Given the description of an element on the screen output the (x, y) to click on. 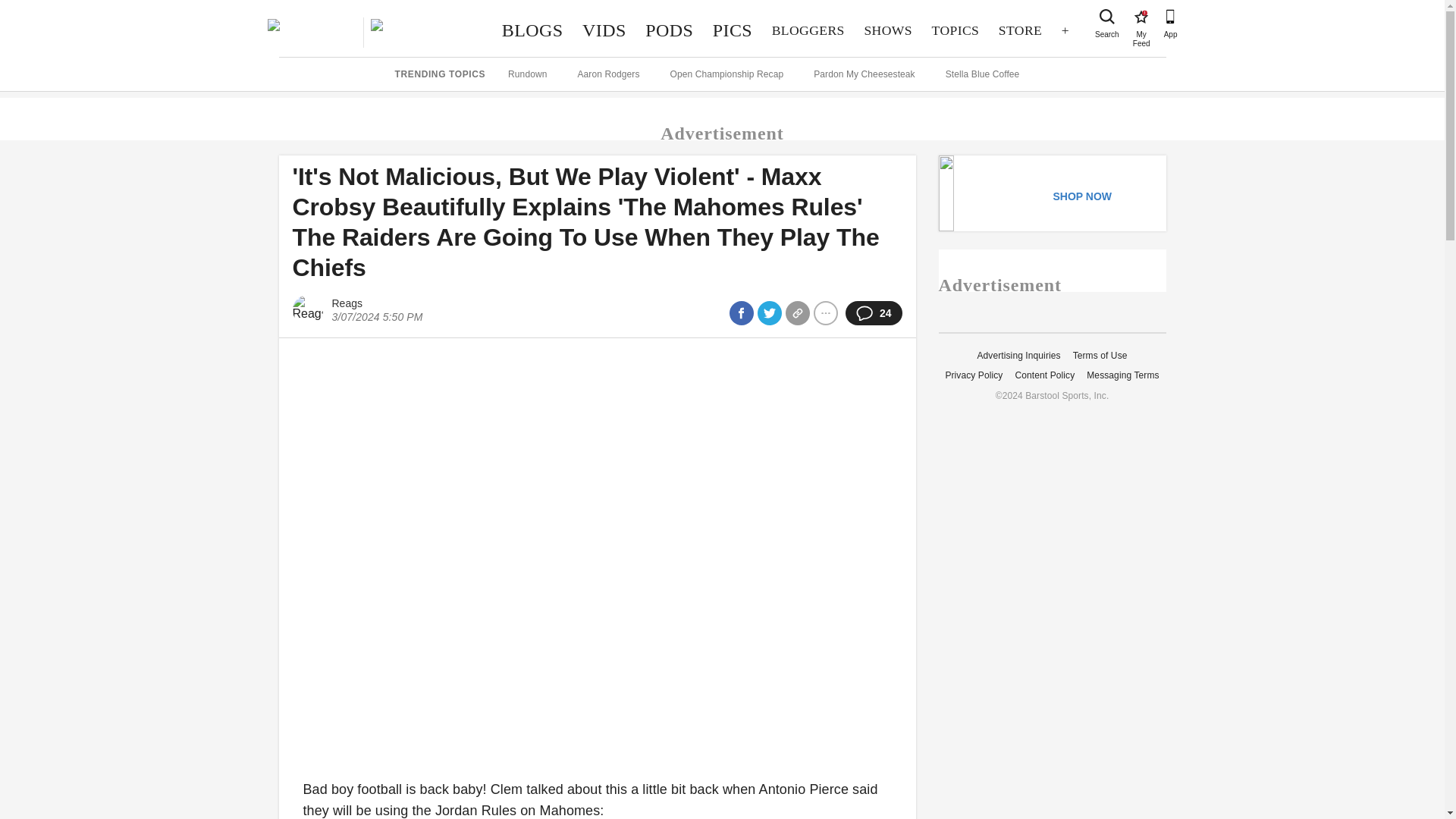
VIDS (603, 30)
Search (1107, 16)
BLOGS (1141, 16)
SHOWS (532, 30)
STORE (887, 30)
PICS (1019, 30)
BLOGGERS (732, 30)
TOPICS (807, 30)
PODS (954, 30)
